Given the description of an element on the screen output the (x, y) to click on. 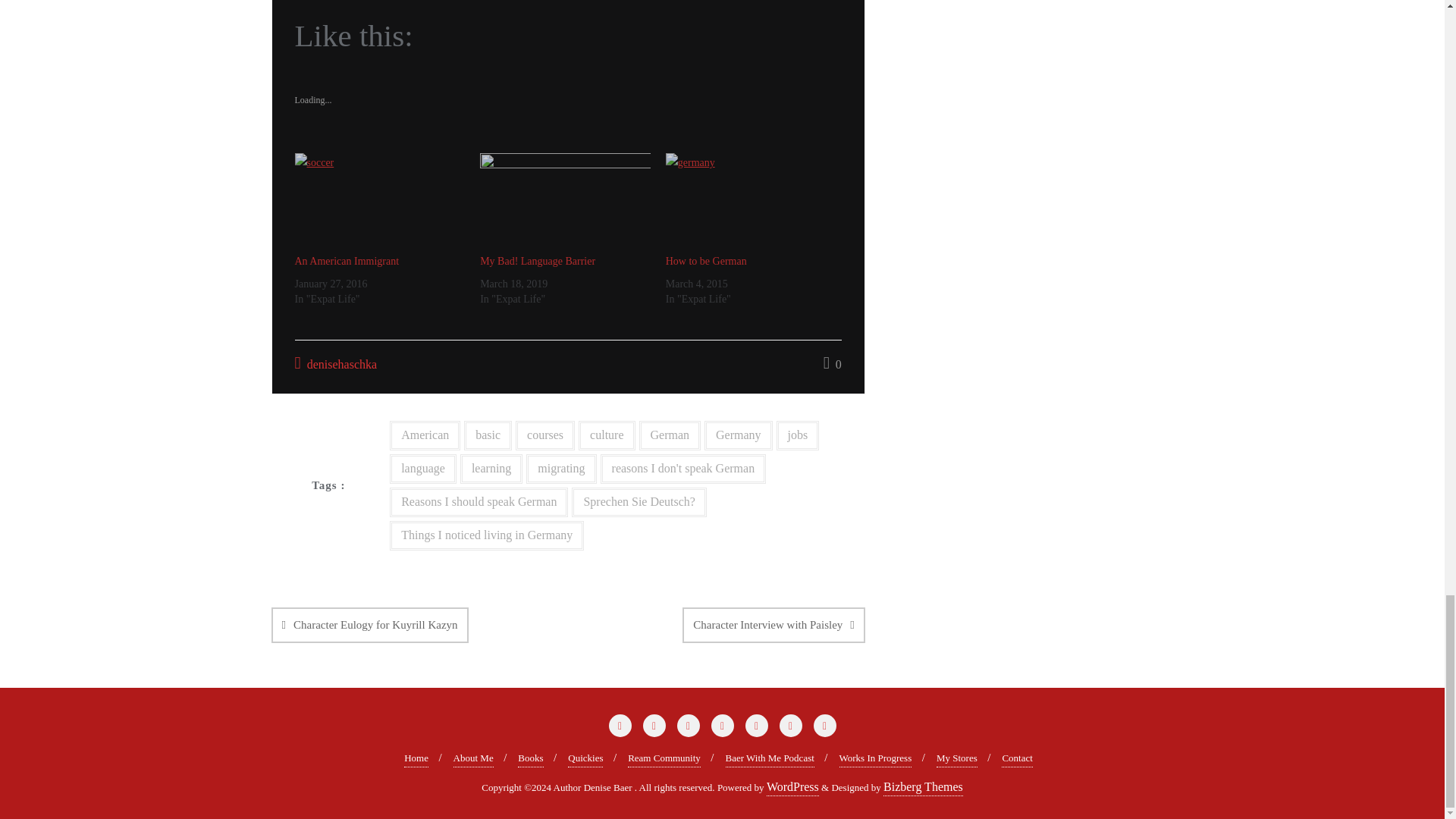
An American Immigrant (346, 260)
My Bad! Language Barrier (565, 201)
How to be German (750, 201)
An American Immigrant (379, 201)
How to be German (705, 260)
My Bad! Language Barrier (537, 260)
